Given the description of an element on the screen output the (x, y) to click on. 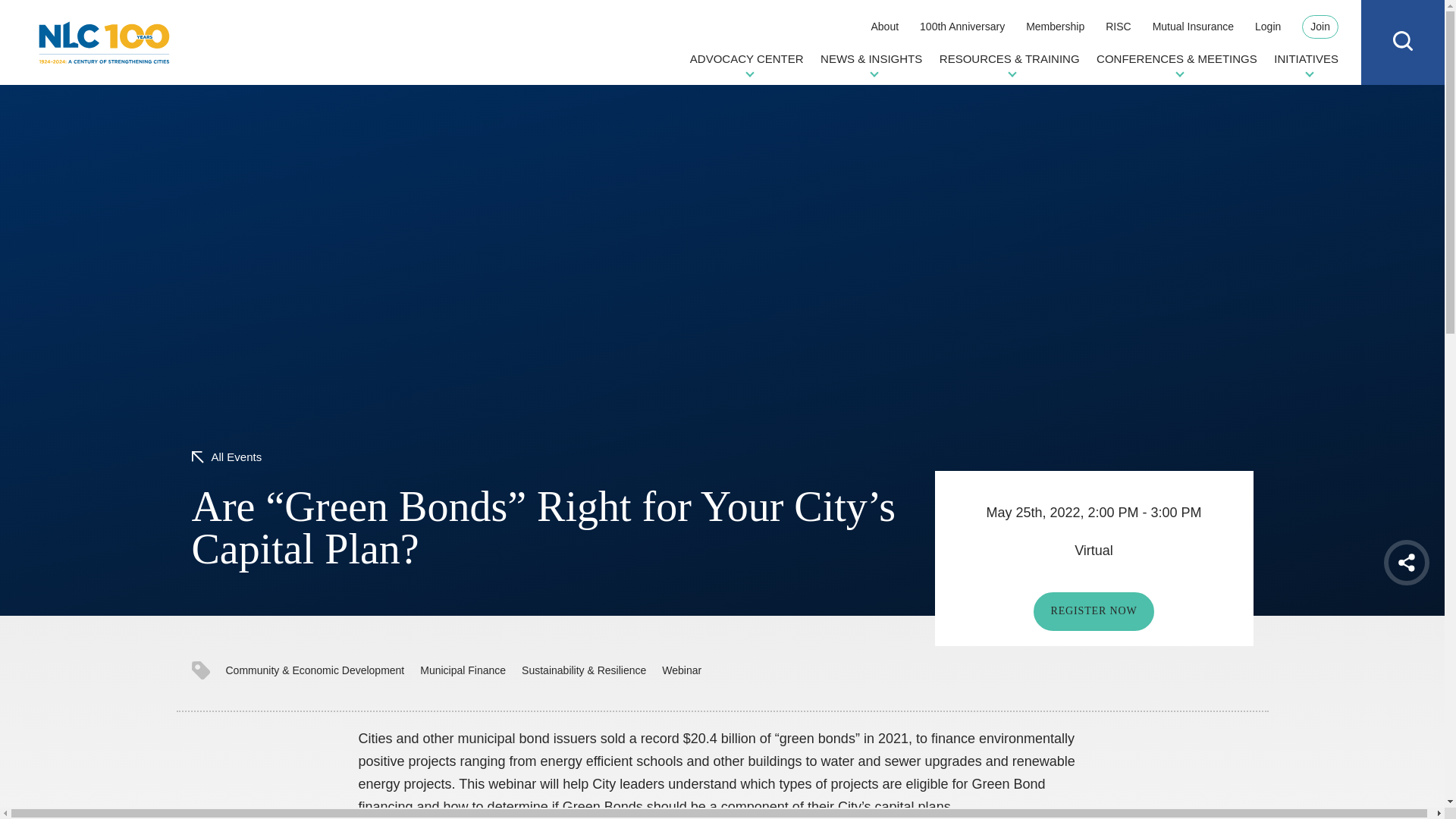
Login (1268, 26)
RISC (1118, 26)
Mutual Insurance (1193, 26)
ADVOCACY CENTER (746, 63)
Join (1319, 26)
Open search (1402, 40)
About (884, 26)
Membership (1055, 26)
INITIATIVES (1306, 63)
100th Anniversary (962, 26)
